Given the description of an element on the screen output the (x, y) to click on. 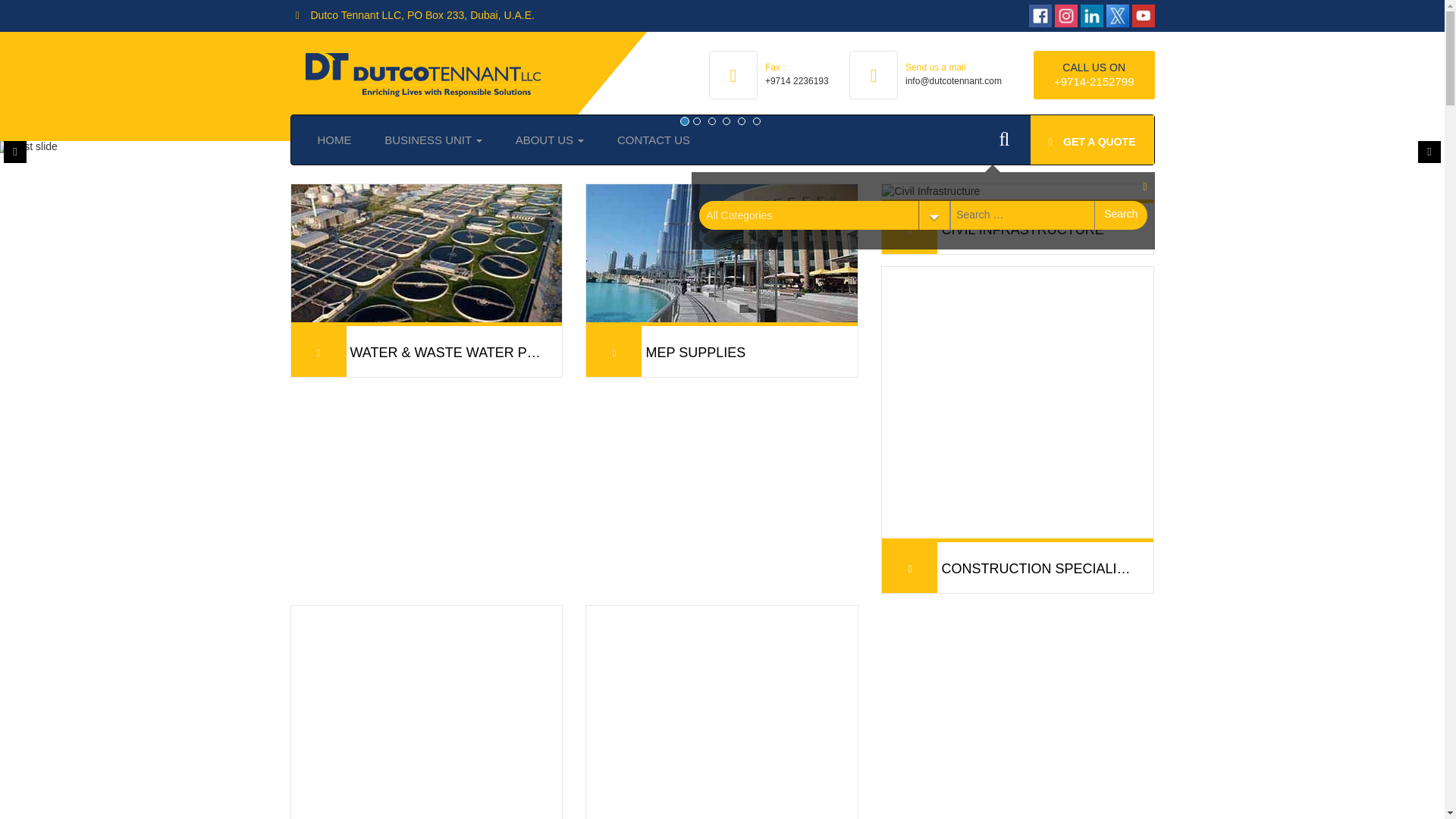
Search (1120, 215)
LinkedIn (1060, 15)
HOME (333, 140)
YouTube (1127, 15)
Twitter (1086, 15)
Facebook (1008, 15)
Instagram (1034, 15)
BUSINESS UNIT (433, 140)
